Given the description of an element on the screen output the (x, y) to click on. 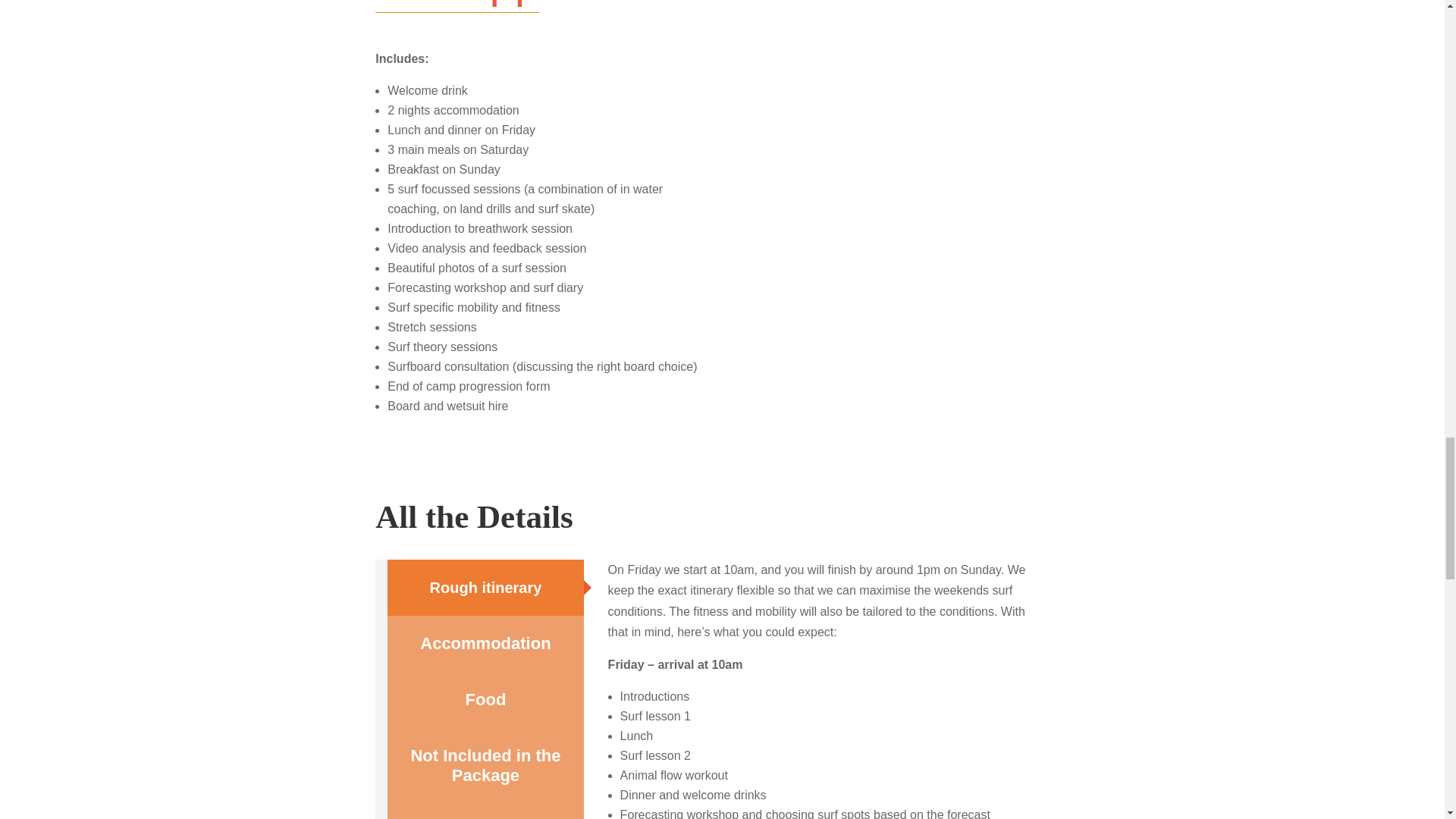
Accommodation (485, 643)
Rough itinerary (485, 587)
Not Included in the Package (485, 765)
Food (485, 699)
If it is Flat (485, 811)
